Given the description of an element on the screen output the (x, y) to click on. 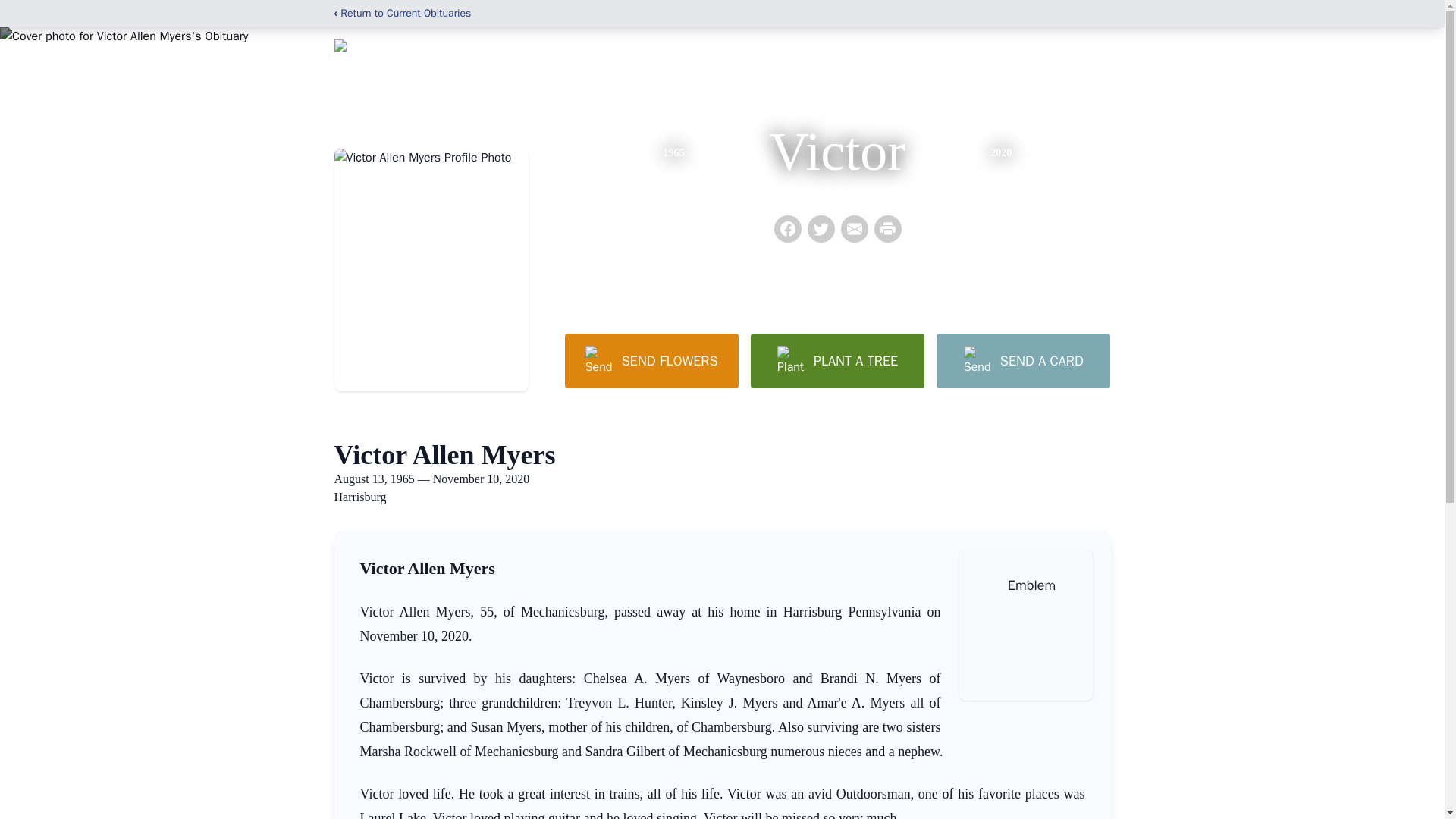
SEND A CARD (1022, 360)
PLANT A TREE (837, 360)
SEND FLOWERS (651, 360)
